Given the description of an element on the screen output the (x, y) to click on. 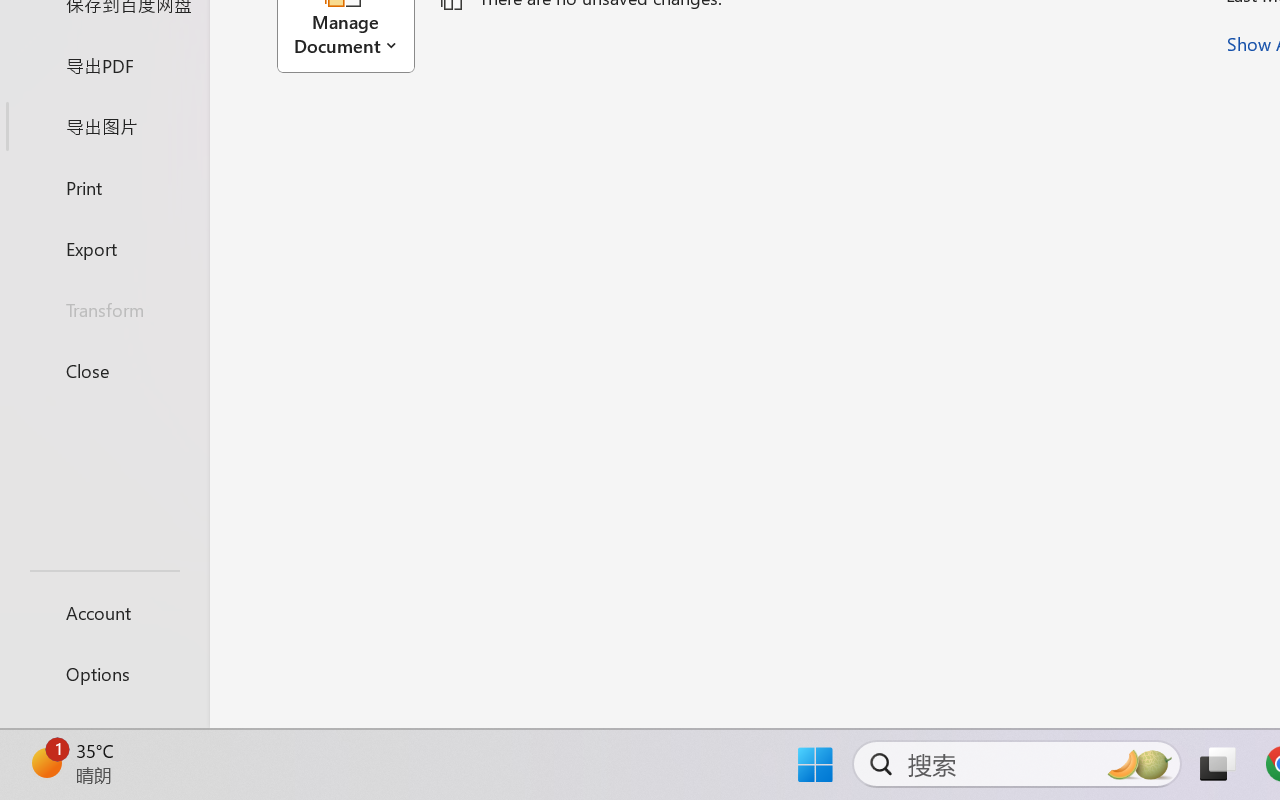
Export (104, 248)
Transform (104, 309)
Account (104, 612)
Print (104, 186)
Options (104, 673)
